Given the description of an element on the screen output the (x, y) to click on. 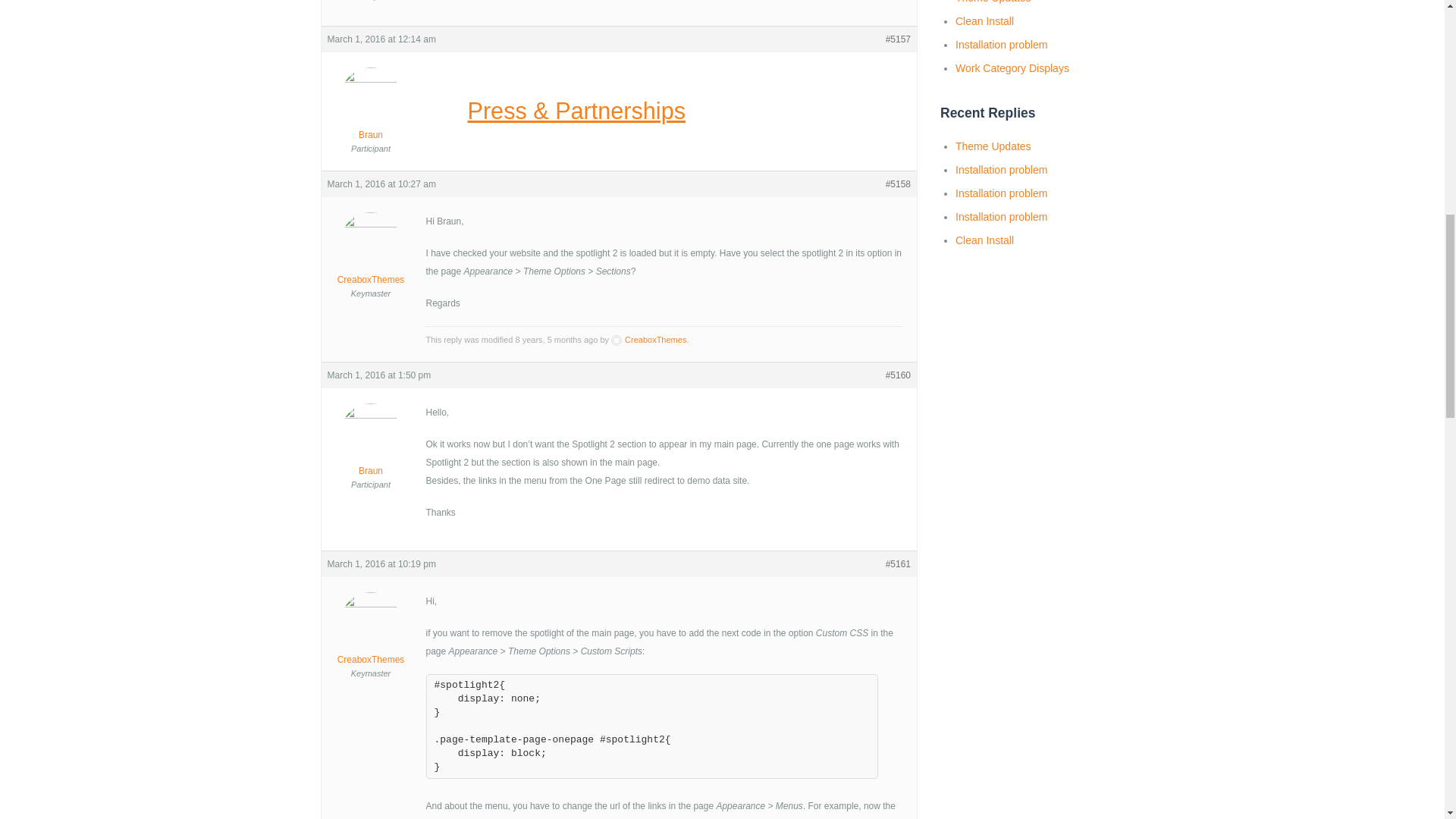
View CreaboxThemes's profile (648, 338)
View Braun's profile (370, 114)
View CreaboxThemes's profile (370, 259)
CreaboxThemes (648, 338)
CreaboxThemes (370, 259)
CreaboxThemes (370, 639)
Braun (370, 114)
Braun (370, 451)
